Given the description of an element on the screen output the (x, y) to click on. 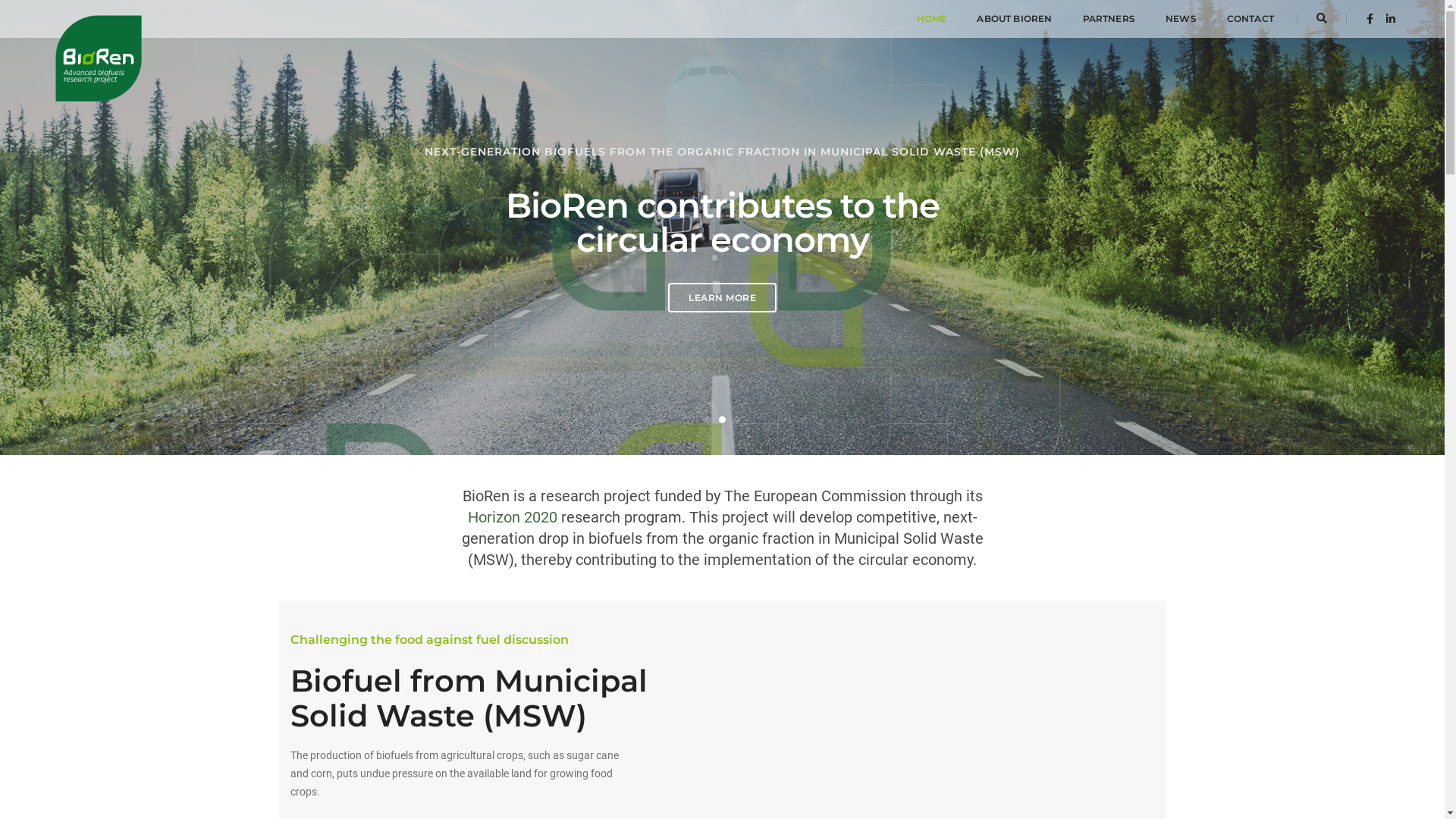
LEARN MORE Element type: text (722, 297)
Horizon 2020 Element type: text (511, 517)
Bioren Element type: hover (98, 18)
